Given the description of an element on the screen output the (x, y) to click on. 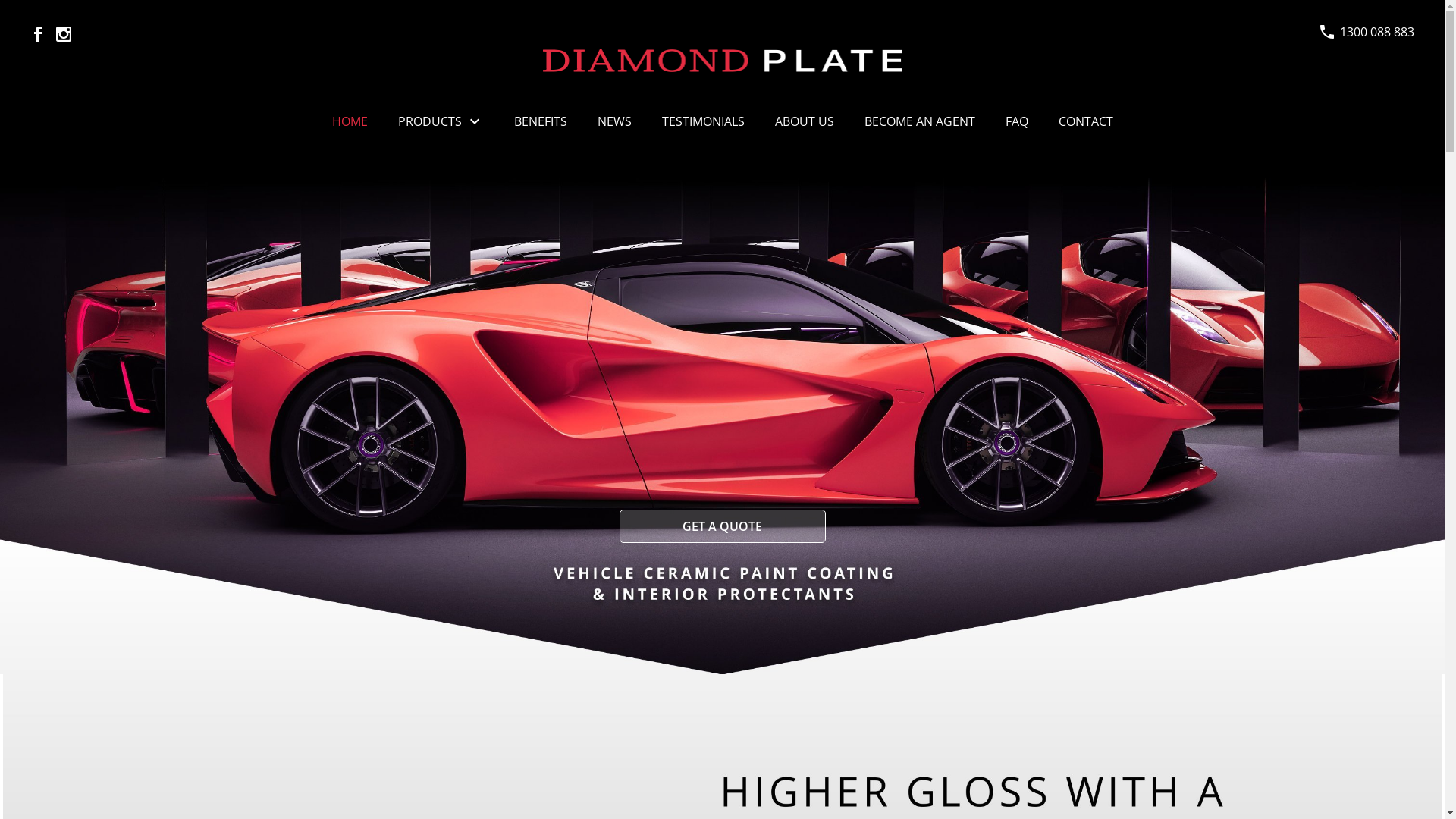
BENEFITS Element type: text (540, 121)
1300 088 883 Element type: text (1376, 31)
GET A QUOTE Element type: text (721, 525)
CONTACT Element type: text (1085, 121)
ABOUT US Element type: text (804, 121)
TESTIMONIALS Element type: text (702, 121)
FAQ Element type: text (1016, 121)
NEWS Element type: text (614, 121)
BECOME AN AGENT Element type: text (919, 121)
HOME Element type: text (349, 121)
